Given the description of an element on the screen output the (x, y) to click on. 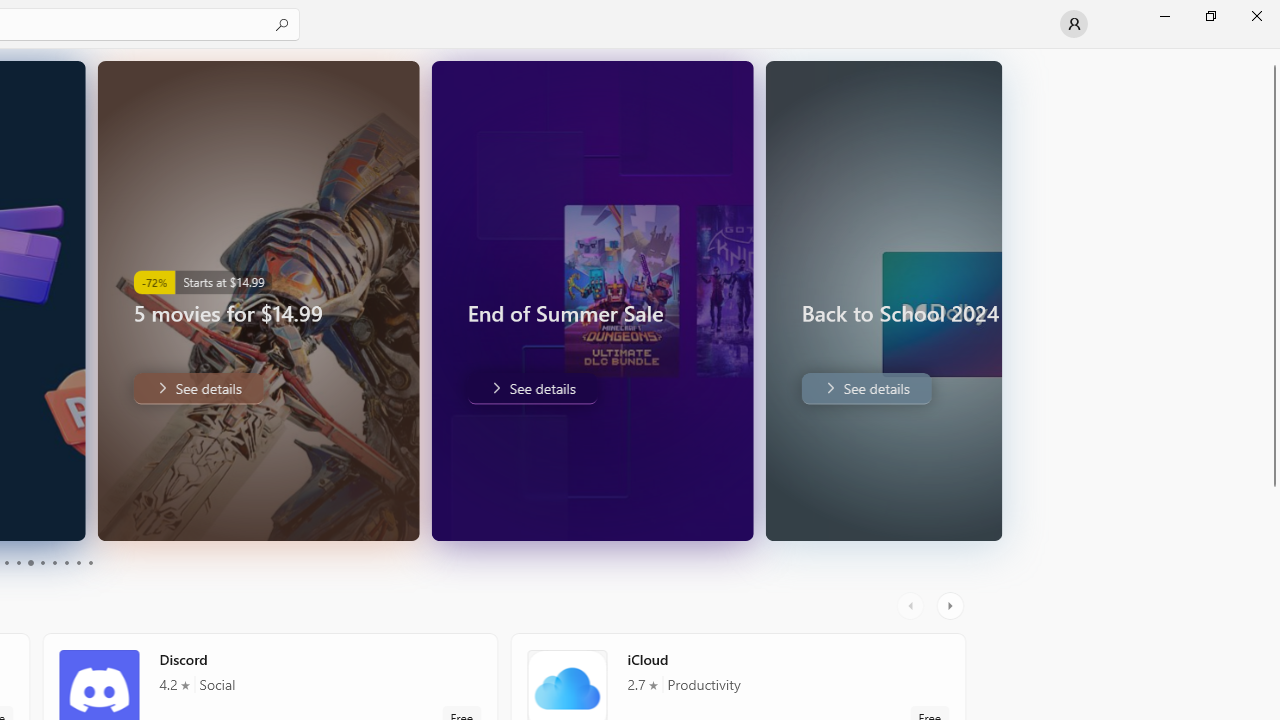
Vertical Small Decrease (1272, 55)
Page 10 (90, 562)
Minimize Microsoft Store (1164, 15)
